Given the description of an element on the screen output the (x, y) to click on. 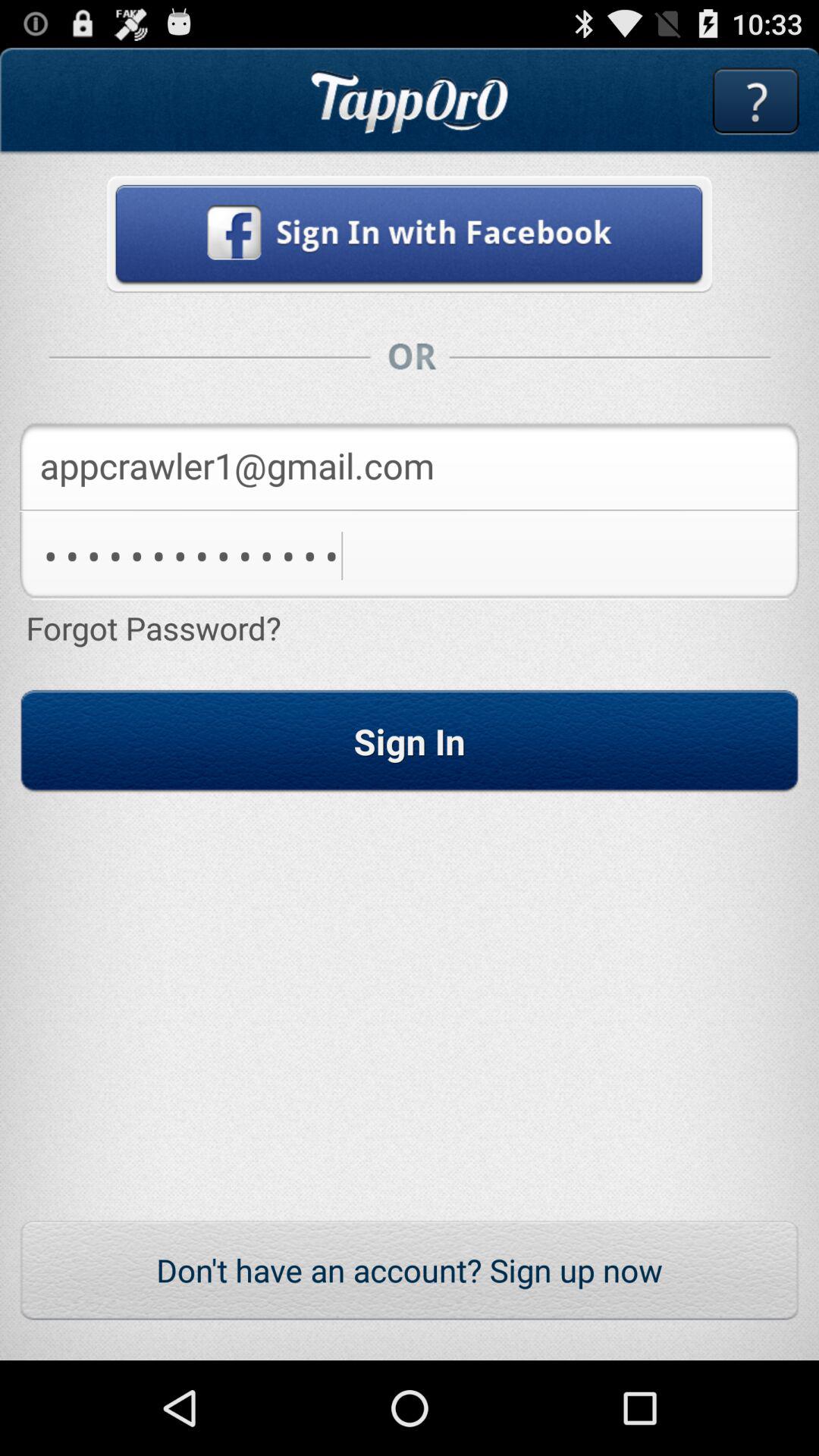
sign in to facebook account (409, 234)
